Given the description of an element on the screen output the (x, y) to click on. 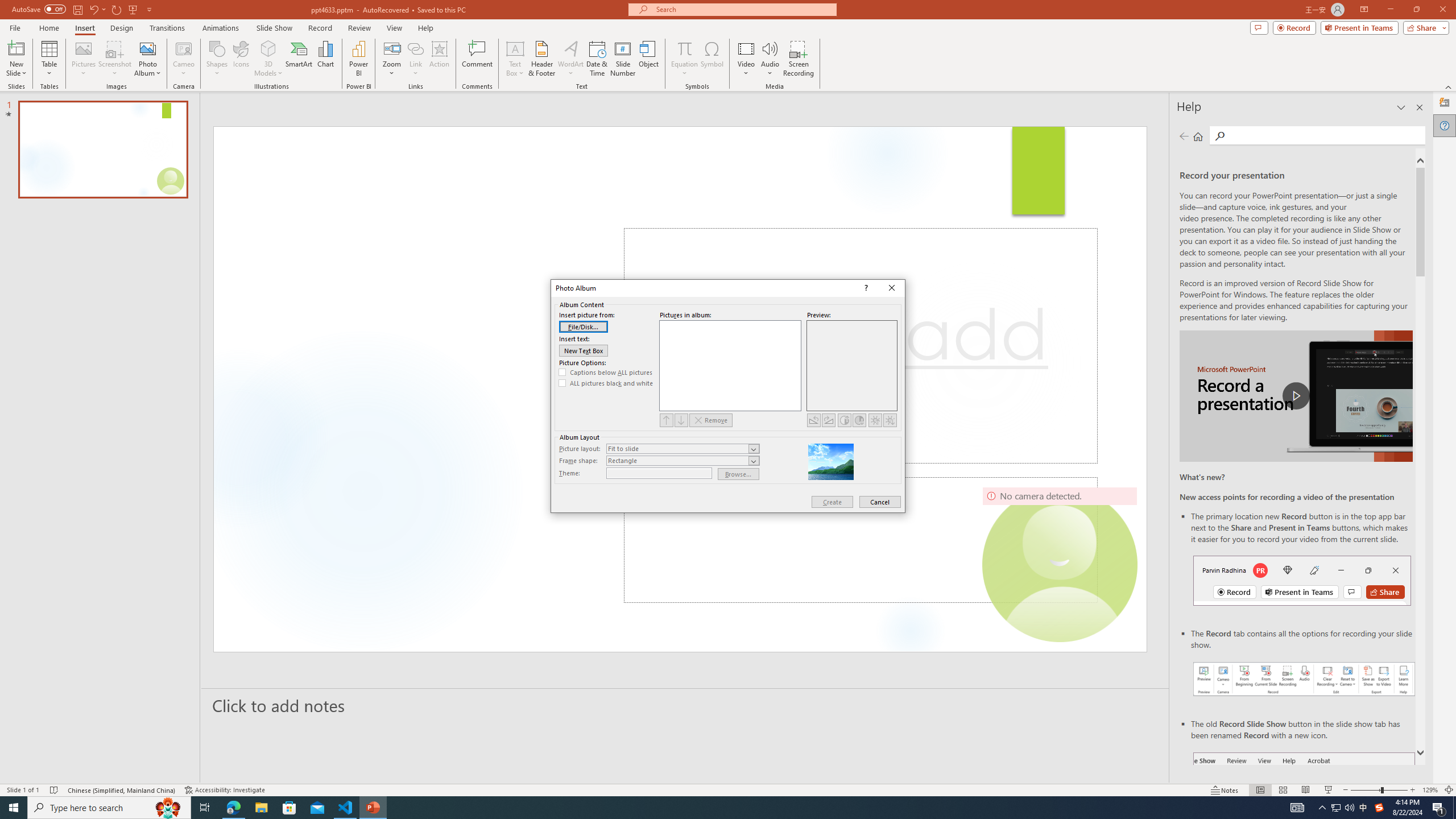
3D Models (268, 58)
Record your presentations screenshot one (1304, 678)
Less Contrast (858, 419)
Symbol... (711, 58)
Browse... (738, 473)
WordArt (570, 58)
Picture layout (682, 448)
More Contrast (844, 419)
Object... (649, 58)
Header & Footer... (541, 58)
Record button in top bar (1301, 580)
